Given the description of an element on the screen output the (x, y) to click on. 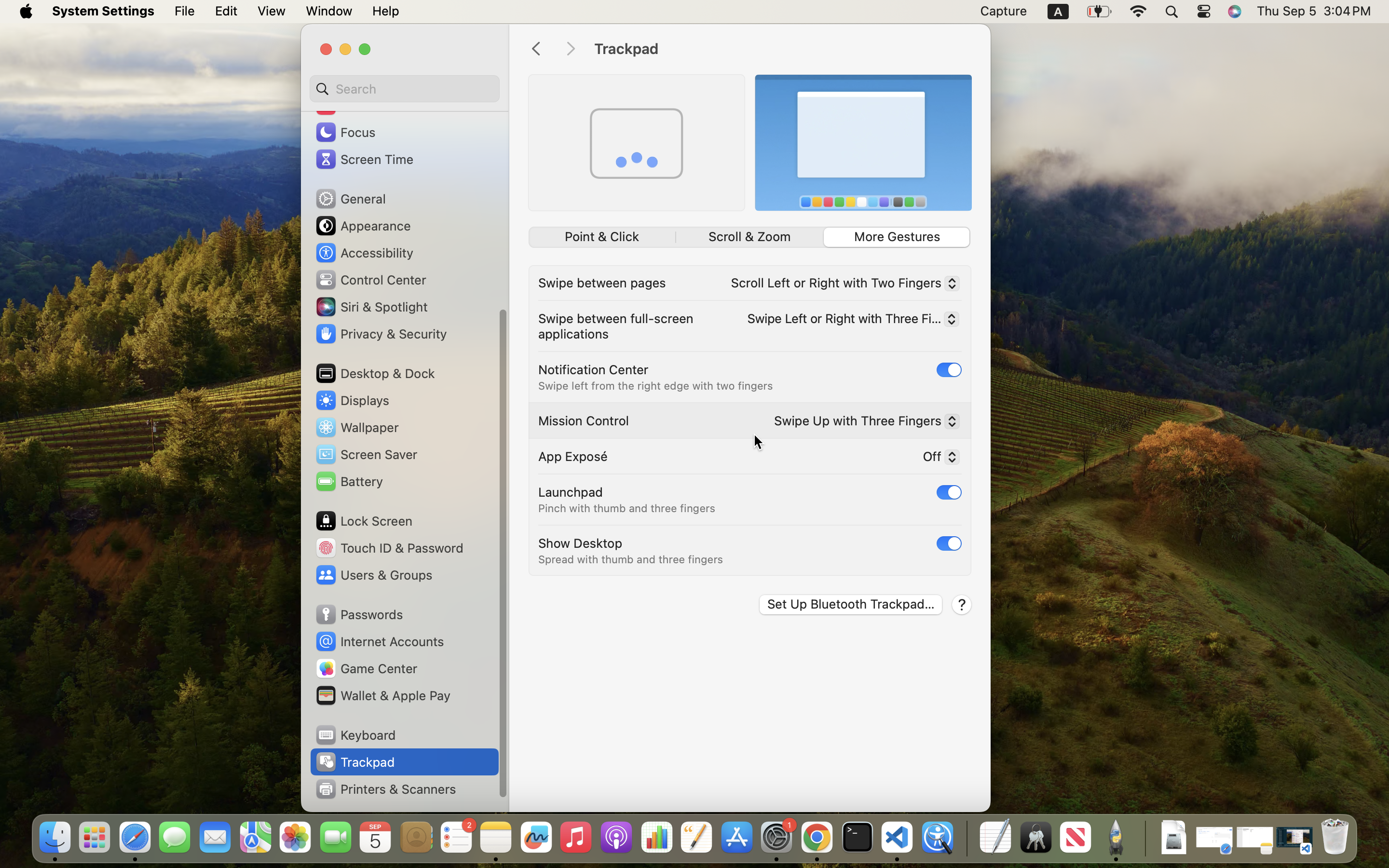
Privacy & Security Element type: AXStaticText (380, 333)
Control Center Element type: AXStaticText (370, 279)
Touch ID & Password Element type: AXStaticText (388, 547)
Notification Center Element type: AXStaticText (593, 369)
Swipe Left or Right with Three Fingers Element type: AXPopUpButton (849, 320)
